Given the description of an element on the screen output the (x, y) to click on. 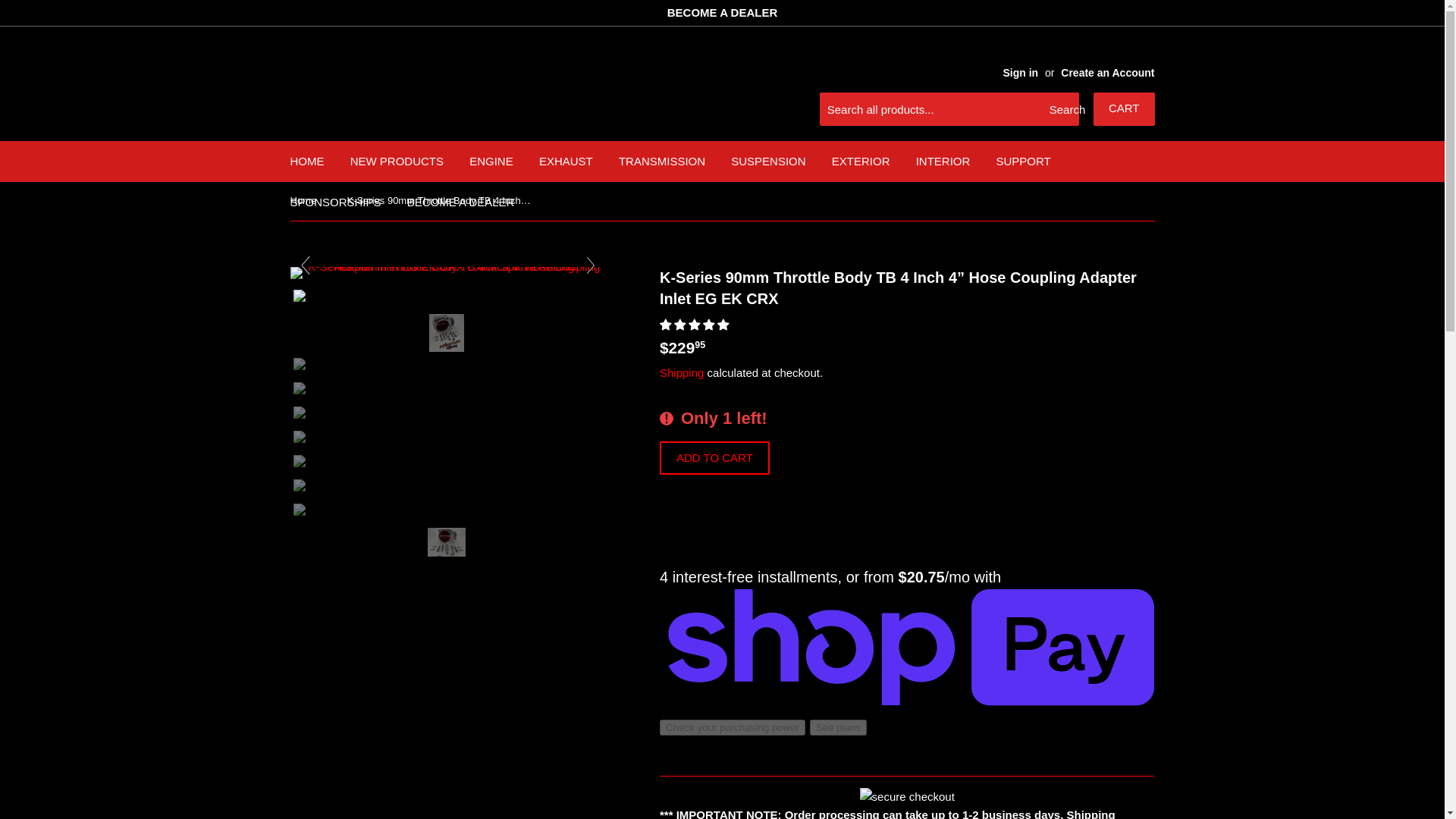
Create an Account (1107, 72)
Search (1061, 110)
Back to the frontpage (305, 200)
Sign in (1020, 72)
BECOME A DEALER (721, 11)
CART (1123, 109)
secure checkout (907, 796)
